Given the description of an element on the screen output the (x, y) to click on. 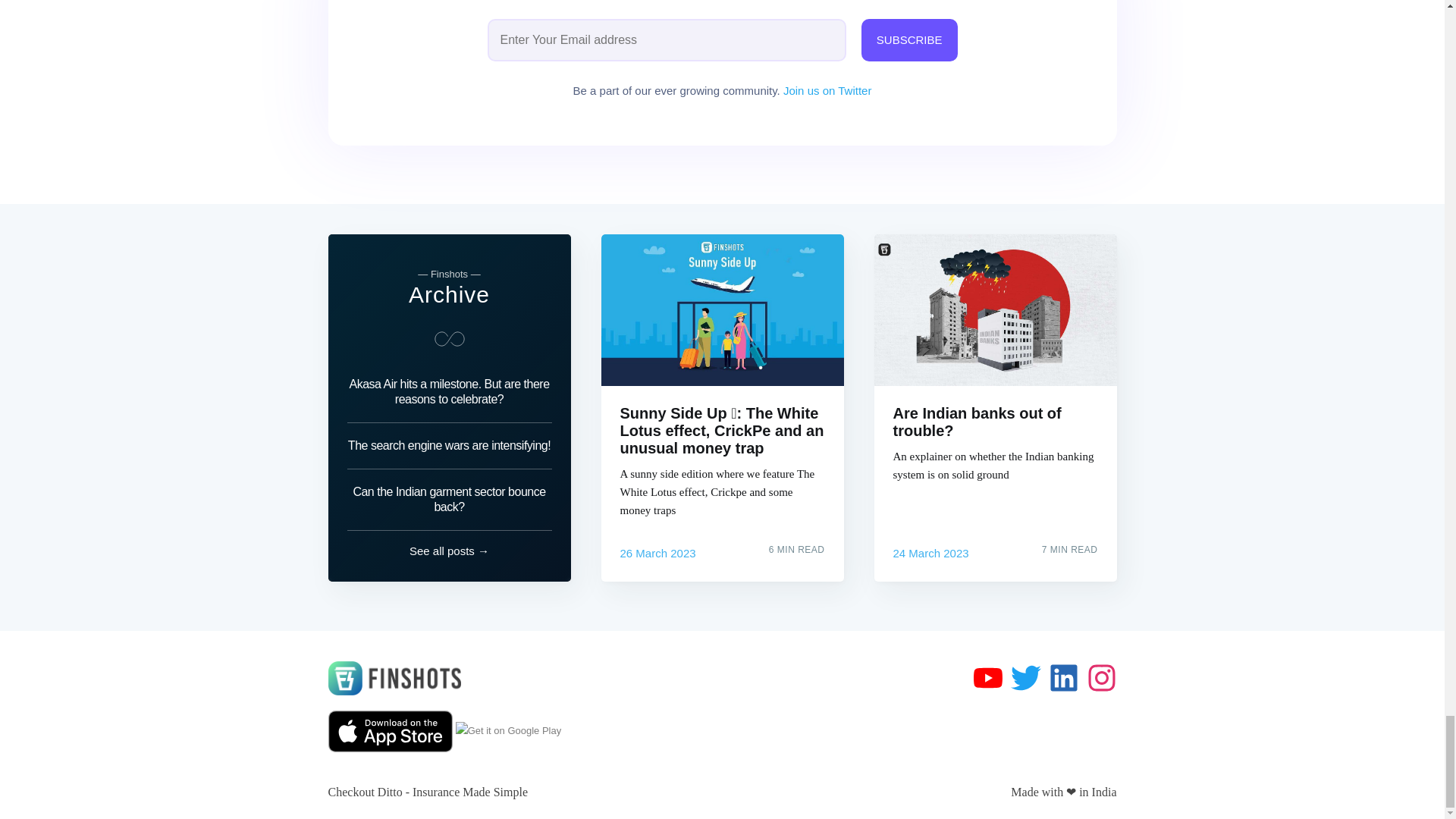
Join us on Twitter (826, 90)
Archive (449, 294)
SUBSCRIBE (909, 39)
Can the Indian garment sector bounce back? (449, 499)
The search engine wars are intensifying! (449, 446)
